Given the description of an element on the screen output the (x, y) to click on. 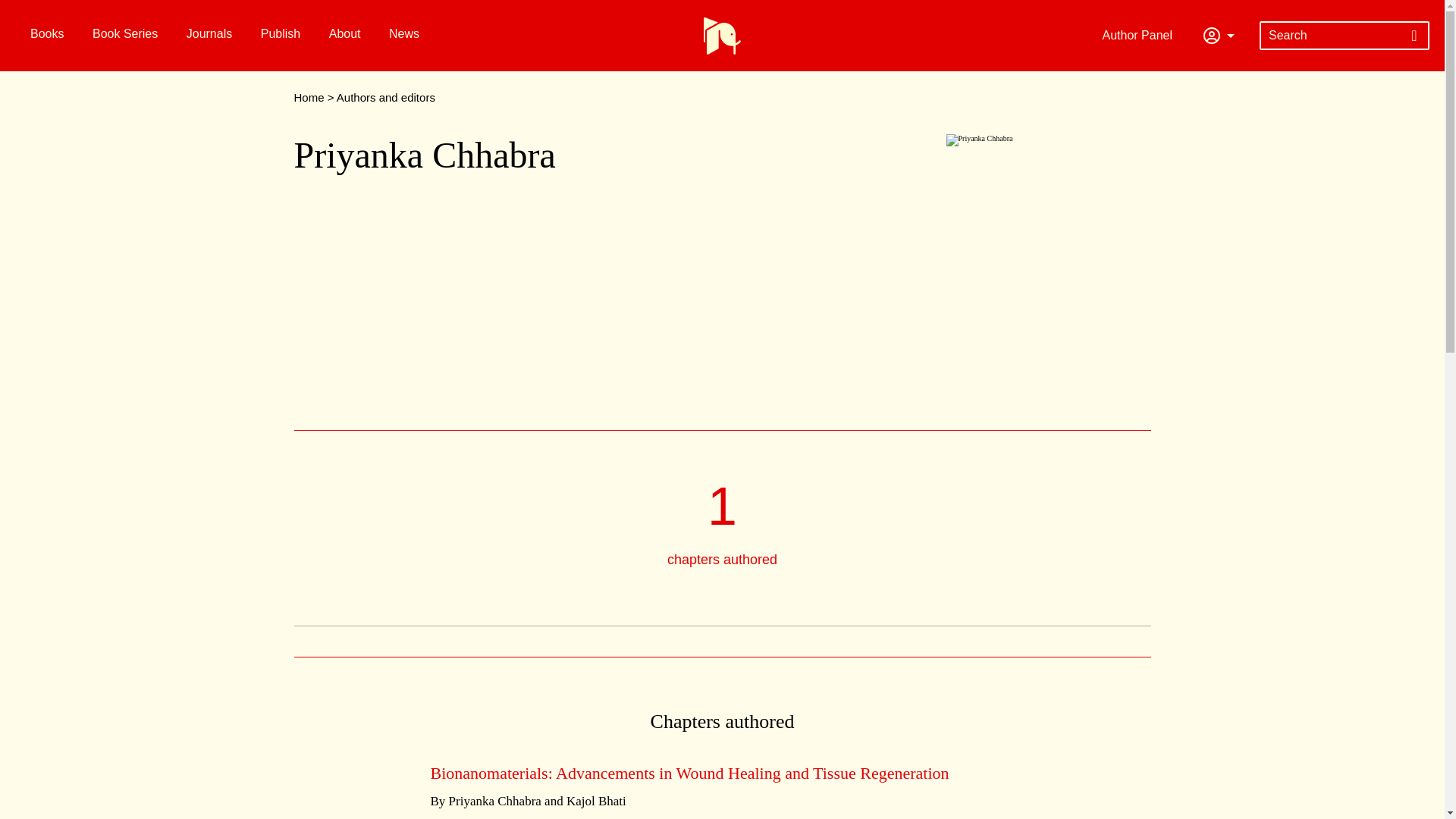
Home (309, 97)
Journals (207, 33)
Submit (1414, 35)
Author Panel (1140, 35)
Authors and editors (385, 97)
Publish (278, 33)
Book Series (122, 33)
